Given the description of an element on the screen output the (x, y) to click on. 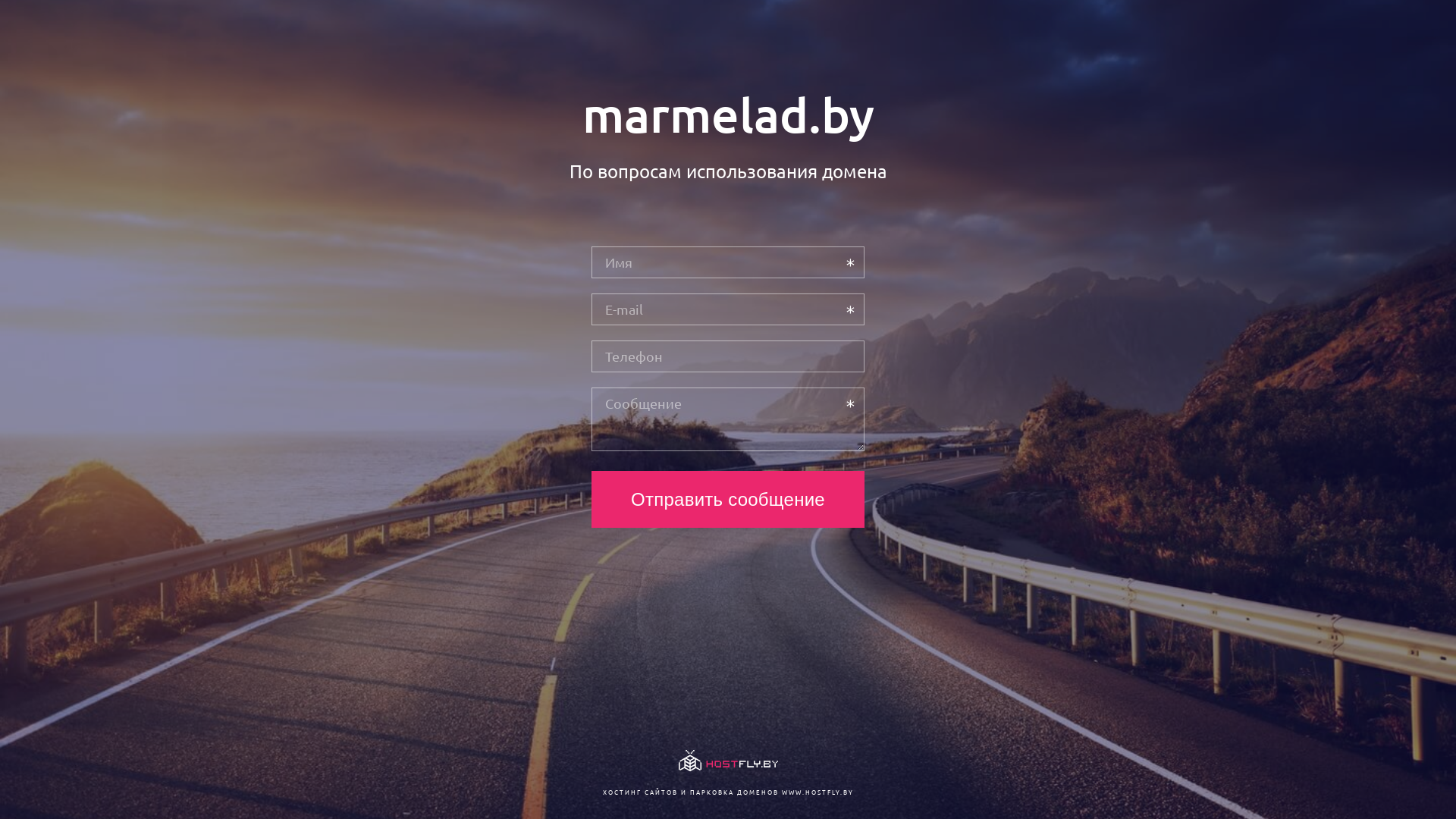
WWW.HOSTFLY.BY Element type: text (817, 791)
